Given the description of an element on the screen output the (x, y) to click on. 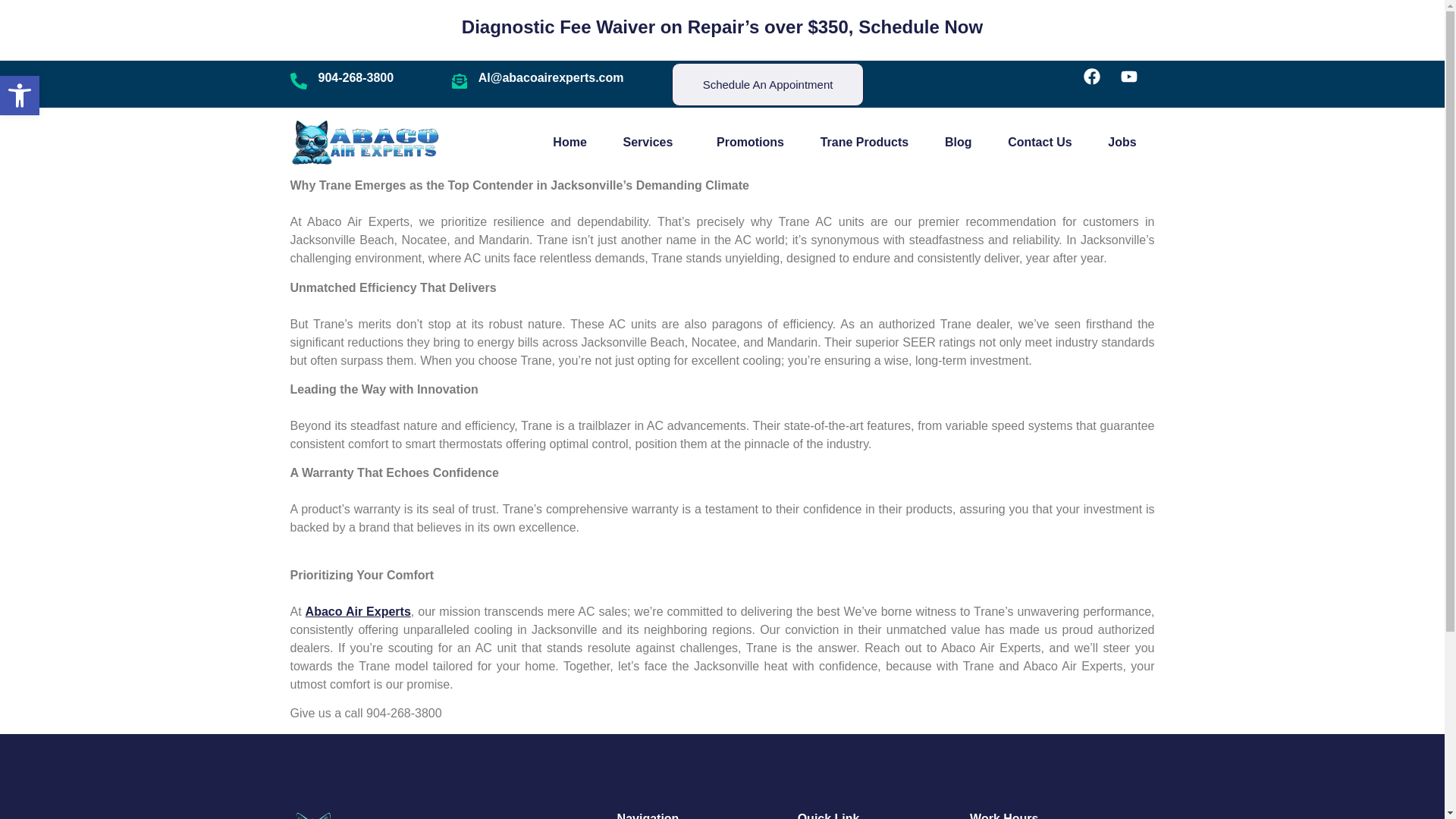
Blog (958, 142)
Help (1039, 142)
Accessibility Tools (19, 95)
Promotions (750, 142)
Facebook (1099, 84)
Navigation (364, 142)
Help (19, 95)
Trane Products (767, 84)
Home (864, 142)
